Given the description of an element on the screen output the (x, y) to click on. 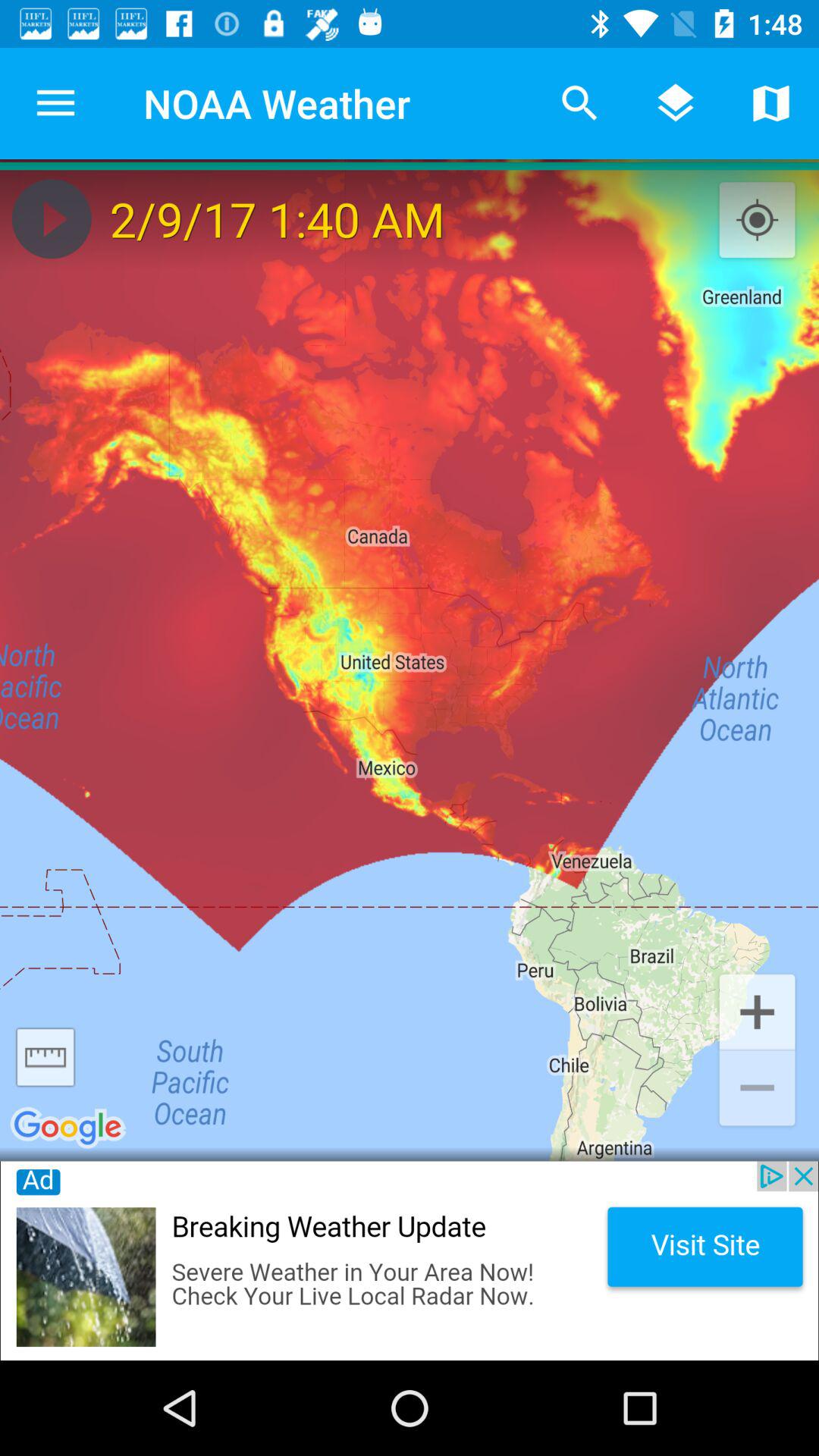
play animation (51, 218)
